Given the description of an element on the screen output the (x, y) to click on. 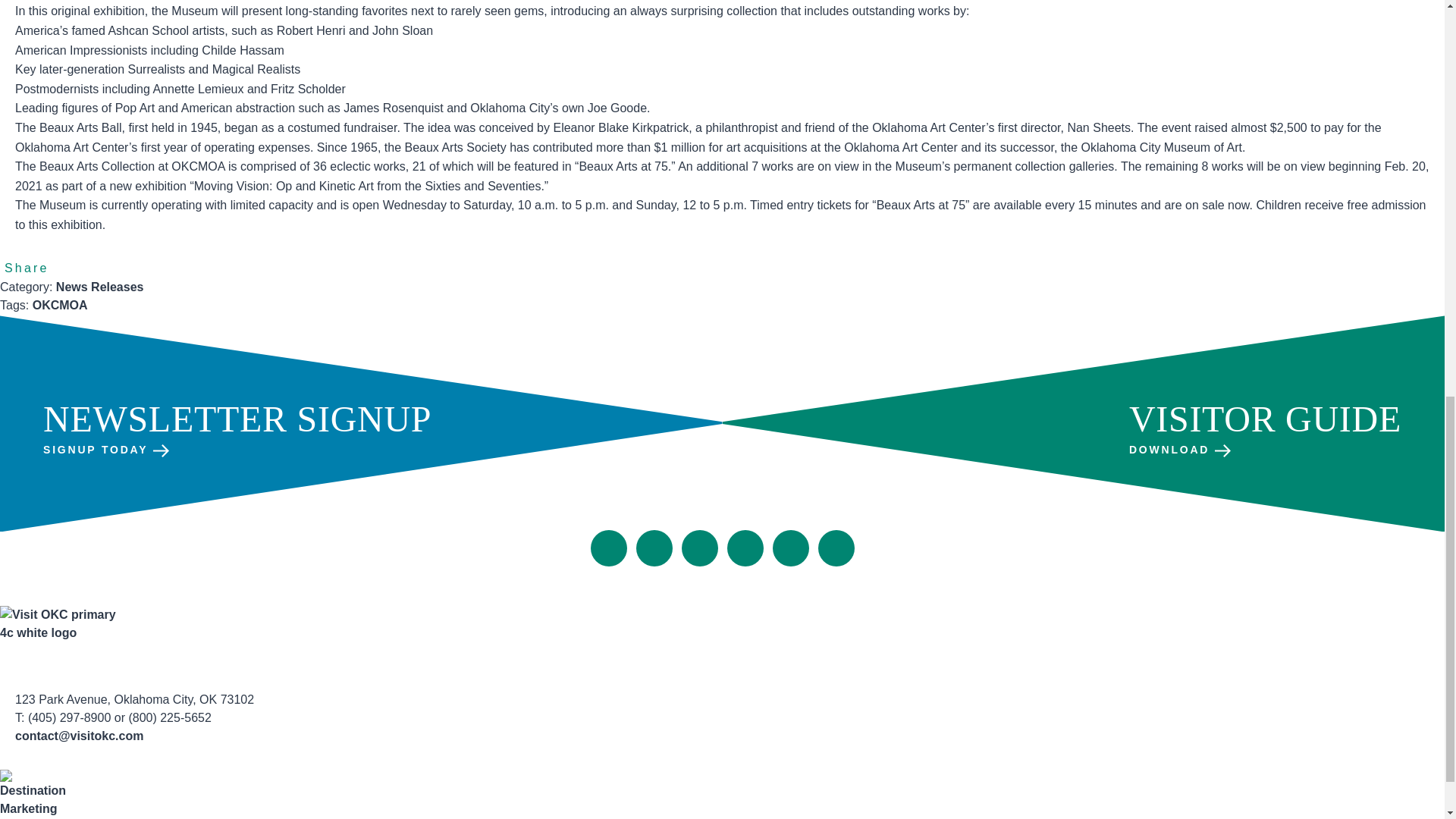
About Us (653, 575)
Contact (715, 575)
